Given the description of an element on the screen output the (x, y) to click on. 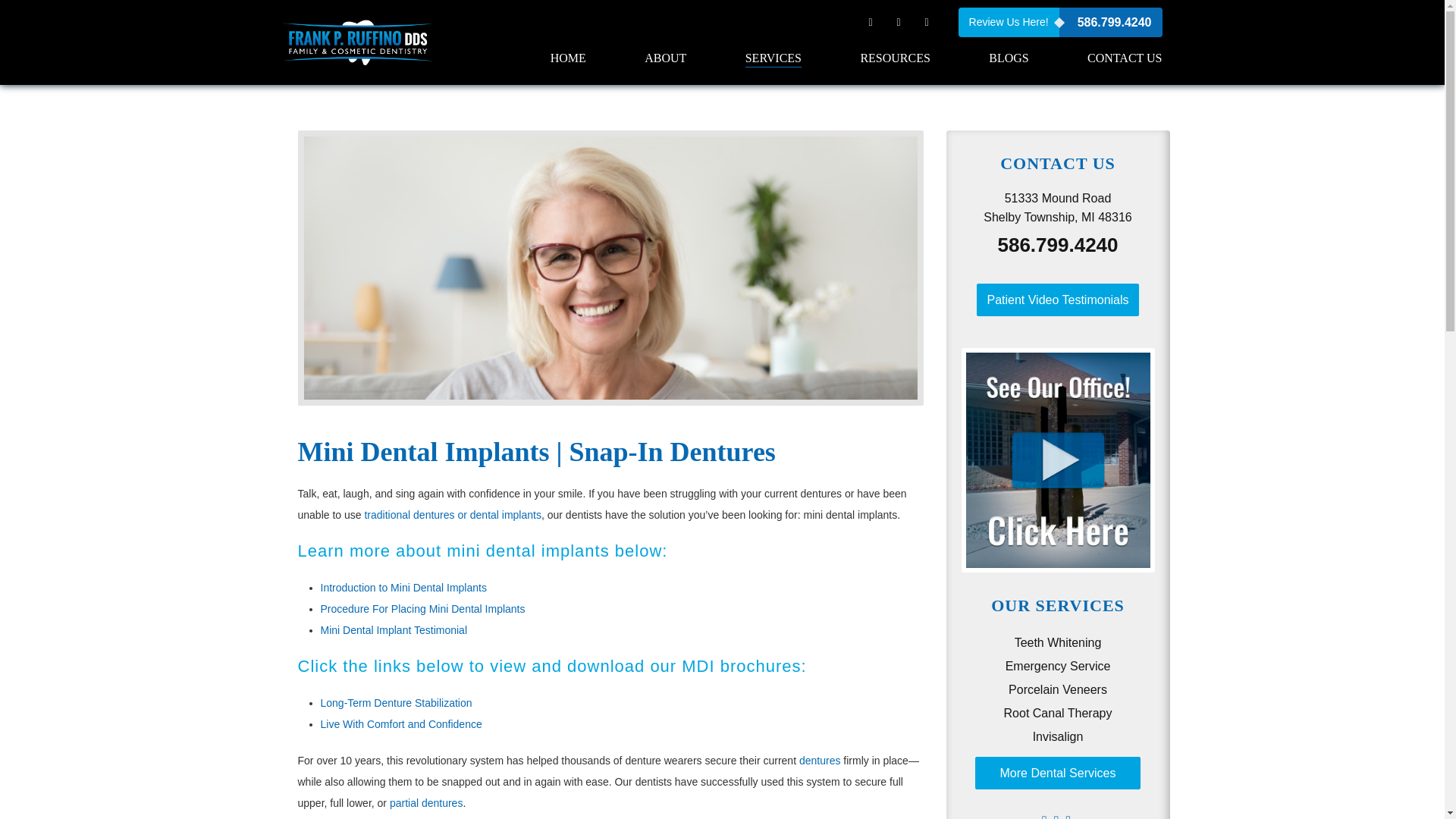
ABOUT (665, 62)
Review Us Here! (1008, 21)
586.799.4240 (1110, 21)
HOME (568, 58)
SERVICES (773, 62)
